Given the description of an element on the screen output the (x, y) to click on. 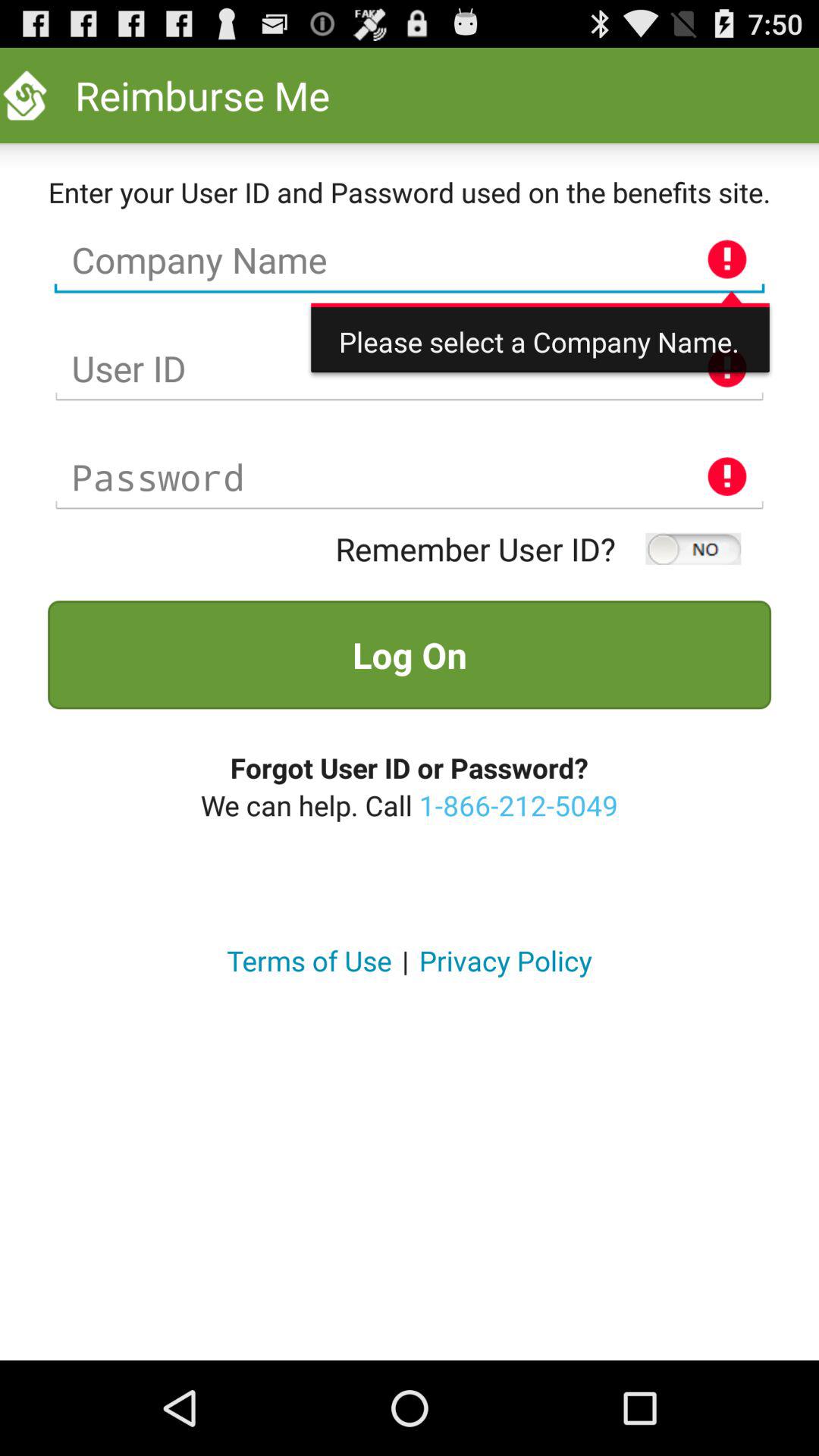
type the password (409, 477)
